Given the description of an element on the screen output the (x, y) to click on. 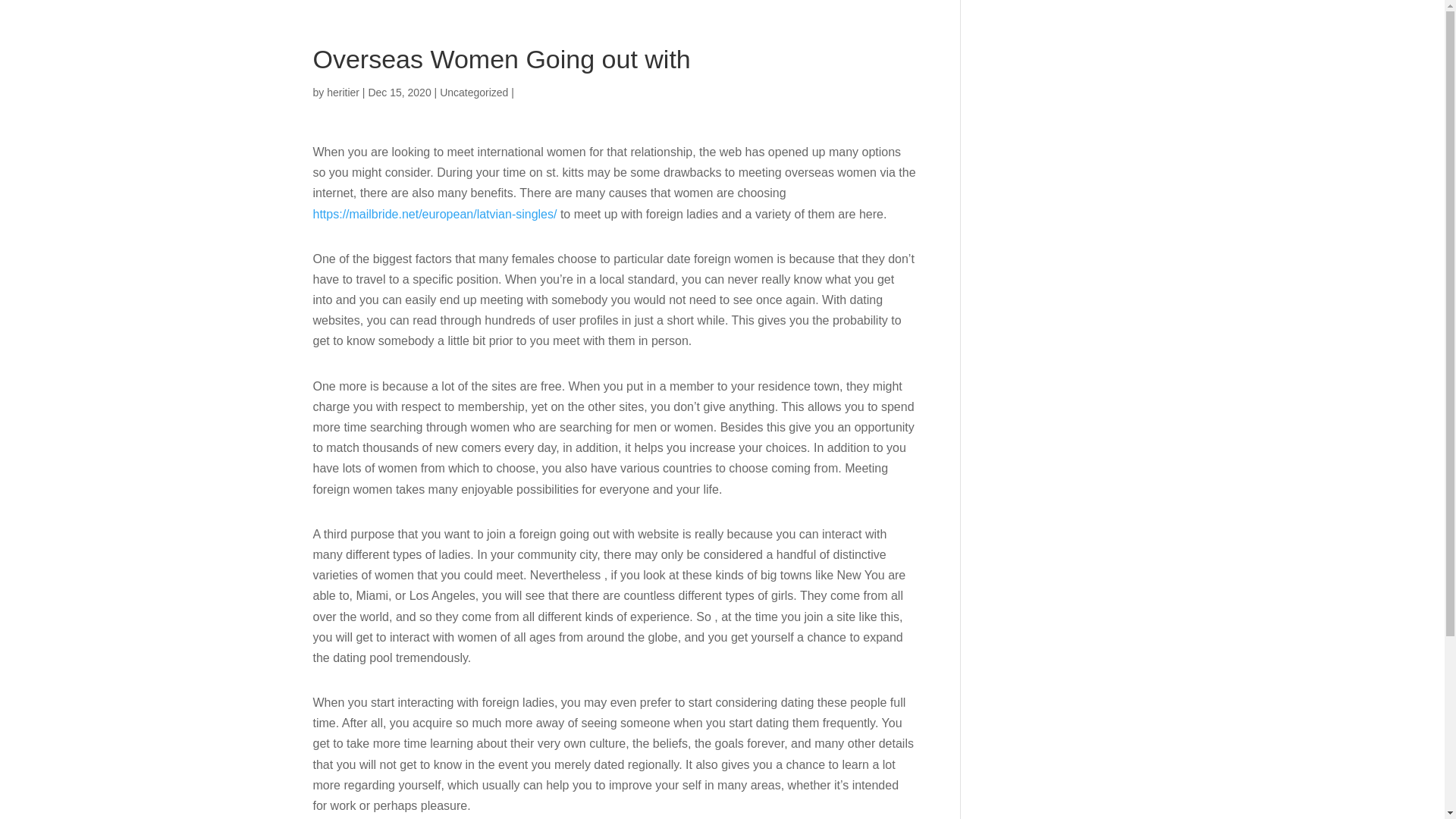
Uncategorized (473, 92)
Posts by heritier (342, 92)
heritier (342, 92)
